Given the description of an element on the screen output the (x, y) to click on. 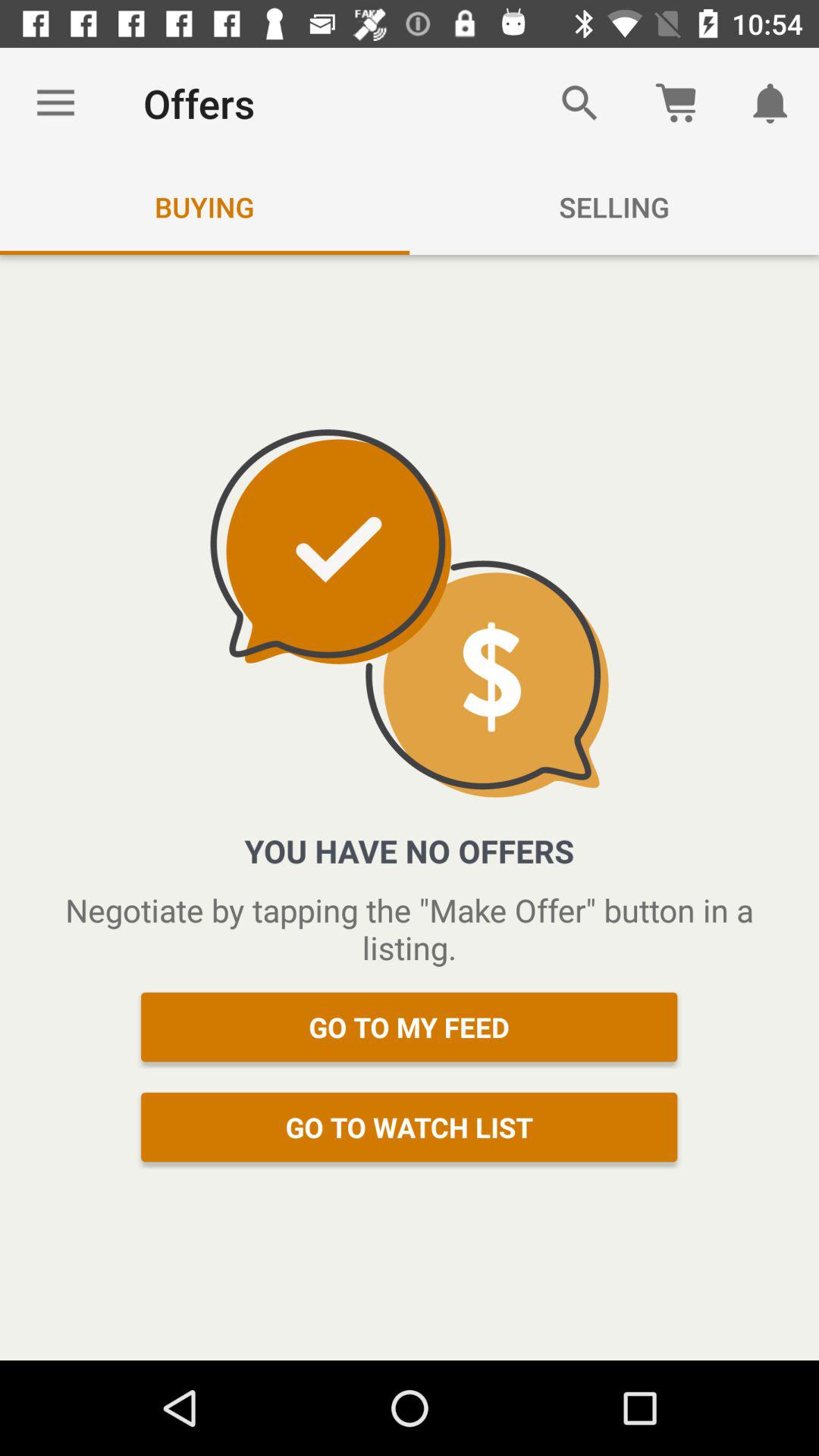
tap item above the negotiate by tapping item (55, 103)
